Given the description of an element on the screen output the (x, y) to click on. 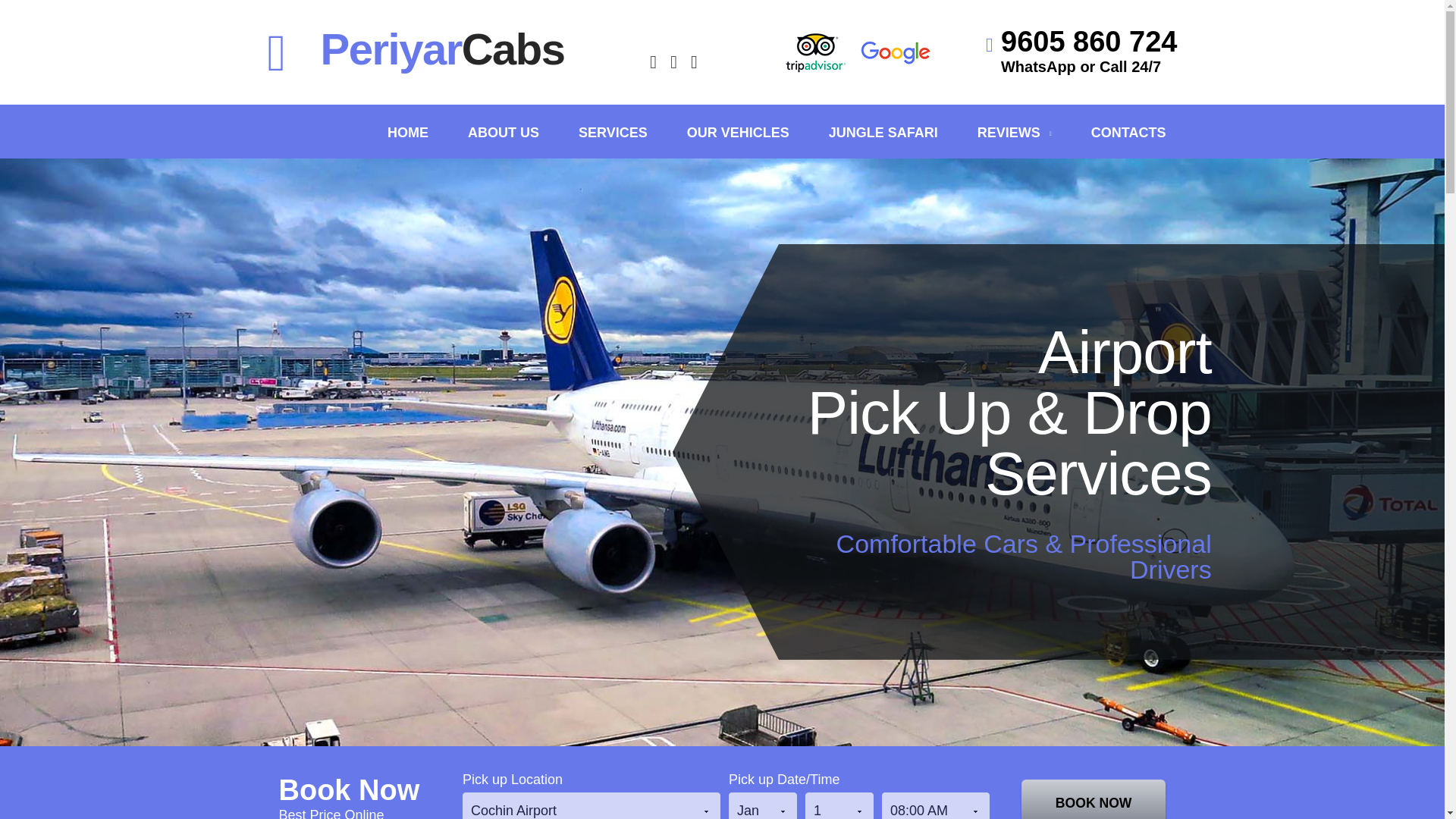
HOME (407, 132)
REVIEWS (1013, 132)
ABOUT US (502, 132)
CONTACTS (1128, 132)
BOOK NOW (1094, 799)
OUR VEHICLES (738, 132)
BOOK NOW (1094, 799)
PeriyarCabs (415, 49)
SERVICES (612, 132)
JUNGLE SAFARI (882, 132)
